Given the description of an element on the screen output the (x, y) to click on. 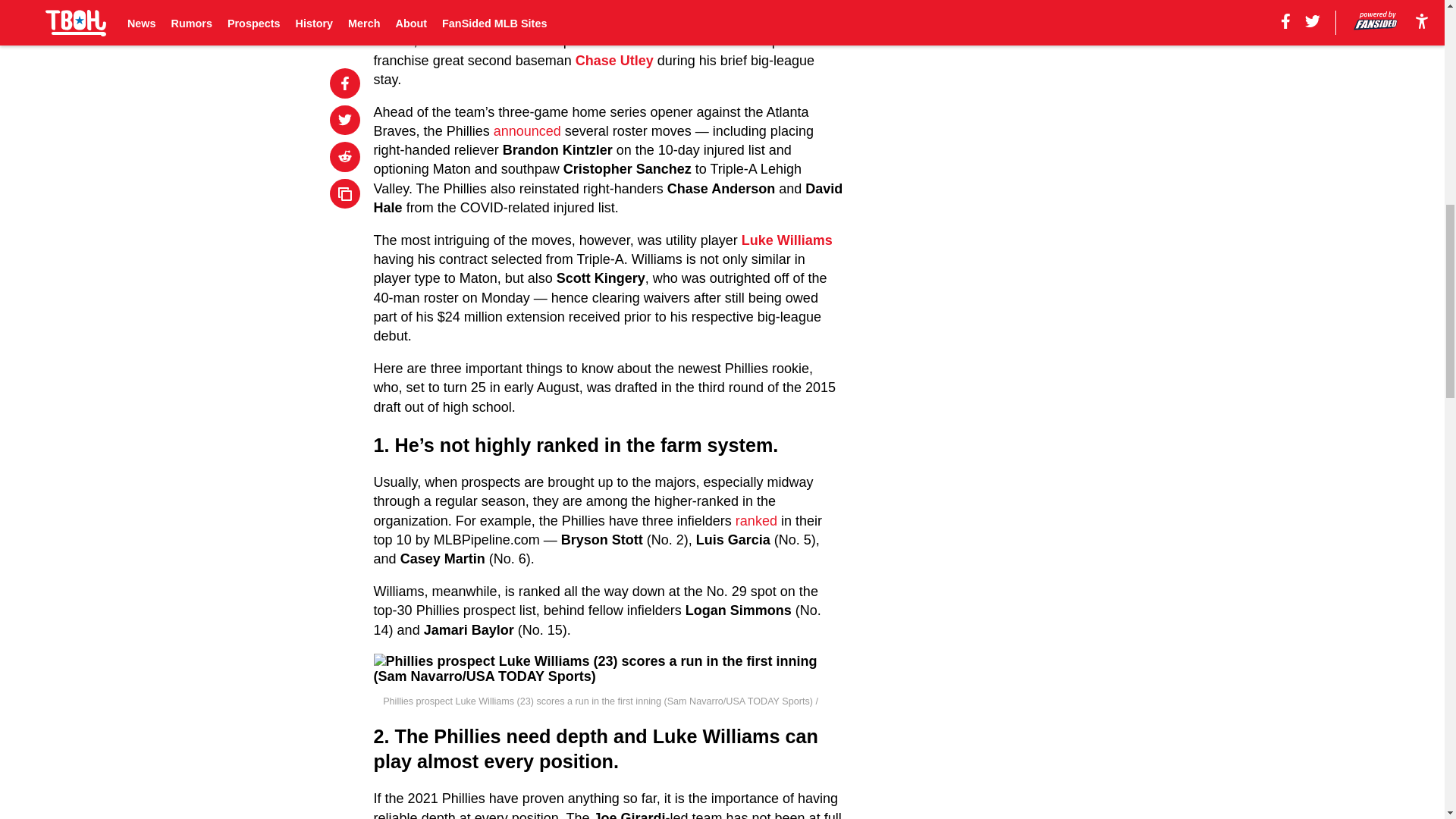
ranked (756, 520)
Chase Utley (614, 60)
announced (526, 130)
Luke Williams (786, 240)
